Given the description of an element on the screen output the (x, y) to click on. 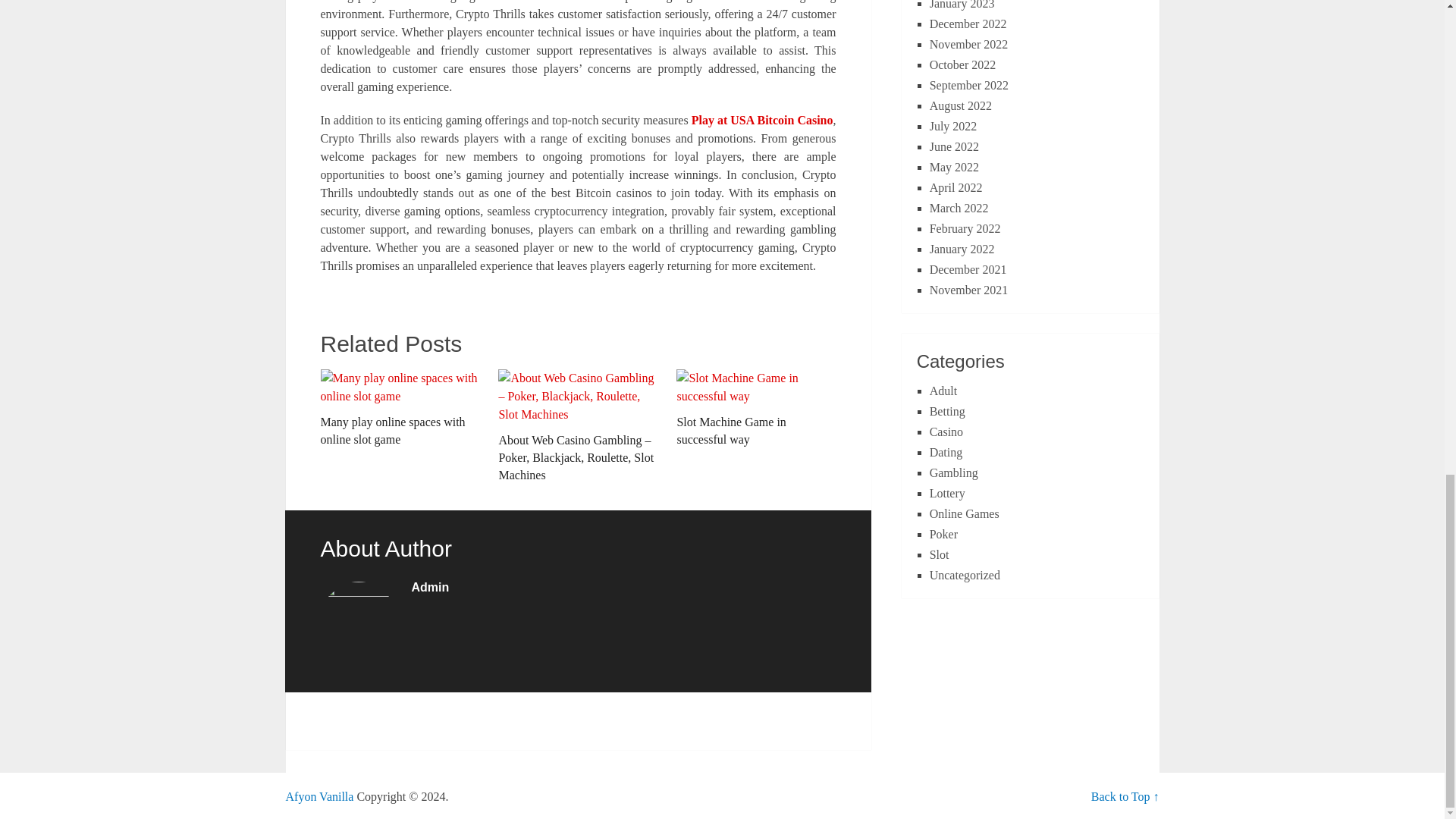
Many play online spaces with online slot game (399, 408)
Many play online spaces with online slot game (399, 408)
Slot Machine Game in successful way (756, 408)
Slot Machine Game in successful way (756, 408)
Play at USA Bitcoin Casino (761, 119)
Check the play guides covering all casino games (319, 796)
